Given the description of an element on the screen output the (x, y) to click on. 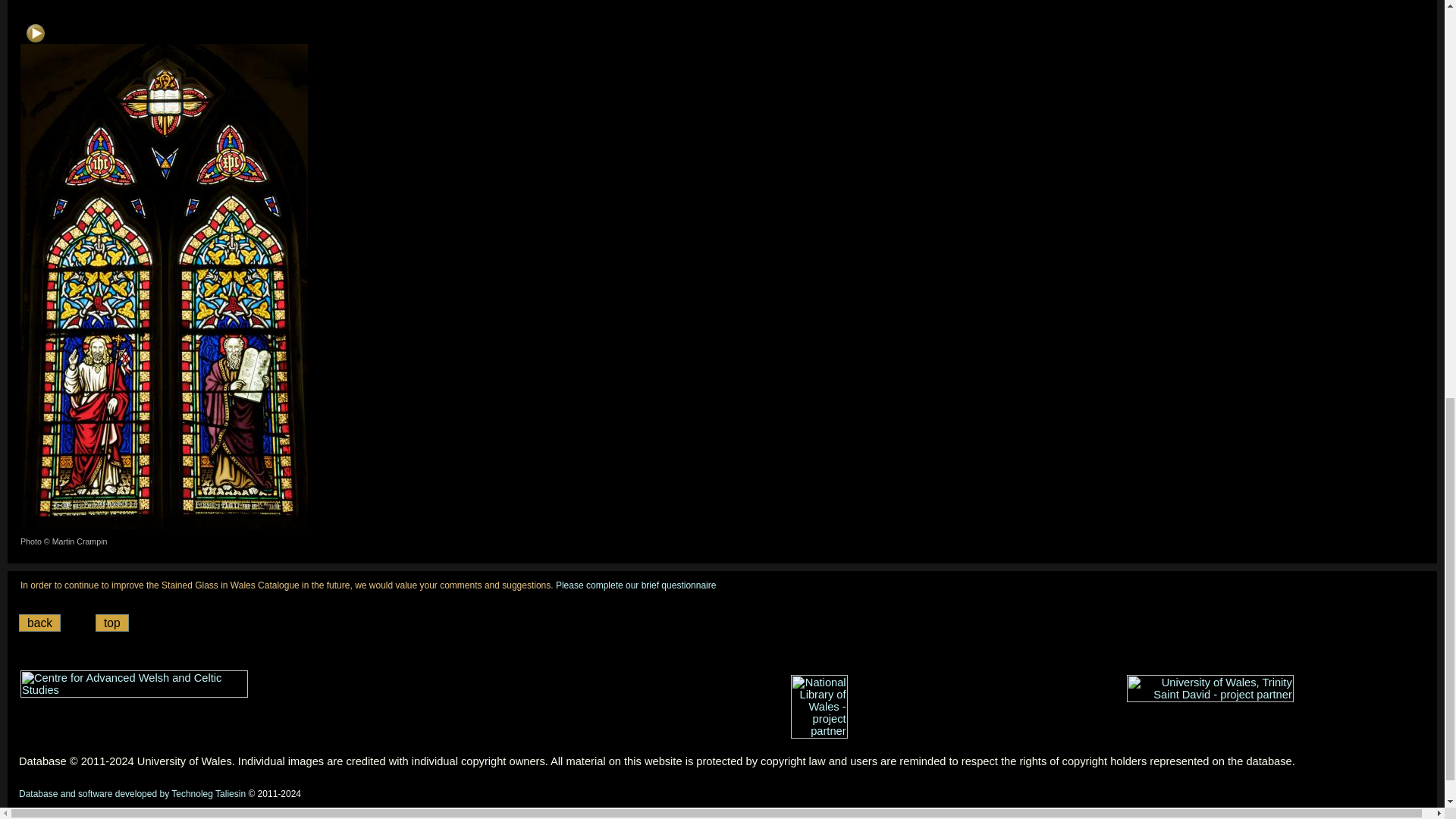
Centre for Advanced Welsh and Celtic Studies (133, 683)
National Library of Wales - project partner (818, 706)
University of Wales, Trinity Saint David - project partner (1210, 687)
next image (35, 33)
